Given the description of an element on the screen output the (x, y) to click on. 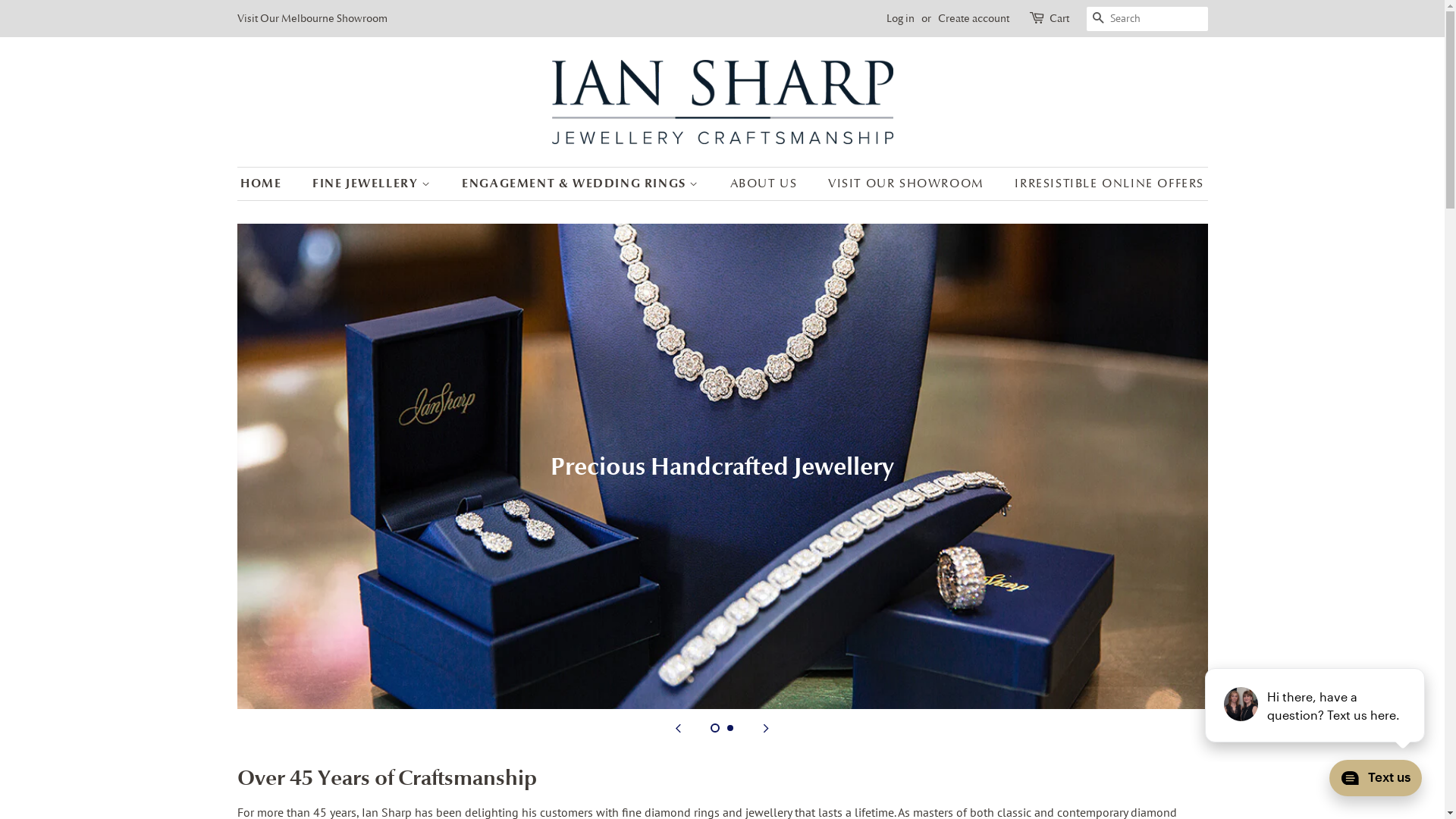
Cart Element type: text (1059, 18)
VISIT OUR SHOWROOM Element type: text (907, 183)
1 Element type: text (713, 727)
IRRESISTIBLE ONLINE OFFERS Element type: text (1103, 183)
2 Element type: text (729, 727)
SEARCH Element type: text (1097, 18)
podium webchat widget prompt Element type: hover (1315, 705)
Create account Element type: text (972, 18)
HOME Element type: text (268, 182)
ENGAGEMENT & WEDDING RINGS Element type: text (582, 182)
Log in Element type: text (899, 18)
FINE JEWELLERY Element type: text (373, 182)
ABOUT US Element type: text (765, 183)
Visit Our Melbourne Showroom Element type: text (311, 18)
